Given the description of an element on the screen output the (x, y) to click on. 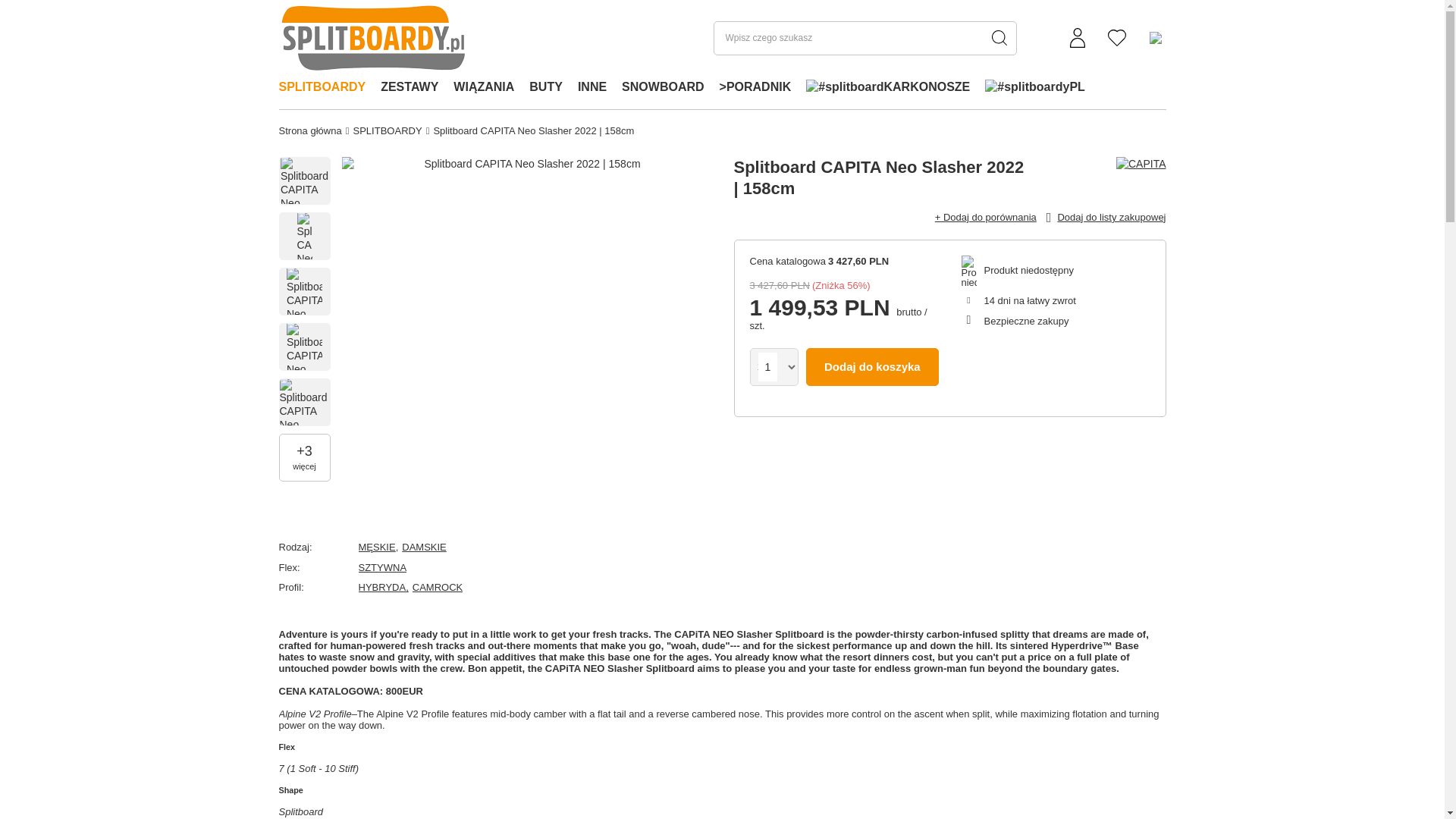
BUTY (545, 88)
ZESTAWY (408, 88)
SNOWBOARD (662, 88)
ZESTAWY (408, 88)
BUTY (545, 88)
SPLITBOARDY (322, 88)
INNE (592, 88)
SPLITBOARDY (322, 88)
SNOWBOARD (662, 88)
SPLITBOARDY (387, 130)
INNE (592, 88)
